Given the description of an element on the screen output the (x, y) to click on. 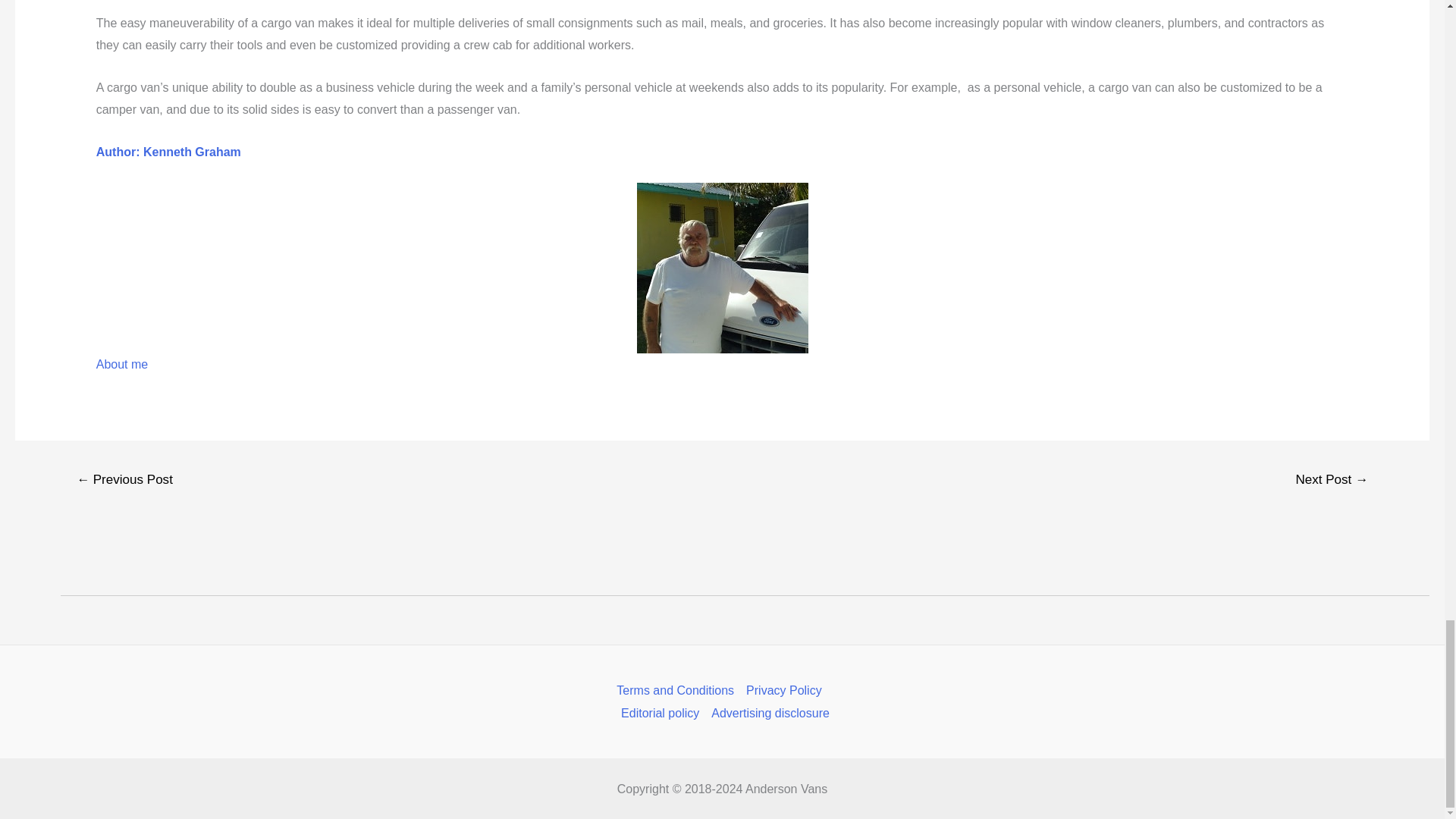
Author: Kenneth Graham (168, 151)
Terms and Conditions (677, 690)
Editorial policy (659, 712)
Privacy Policy (783, 690)
About me (122, 364)
Advertising disclosure (766, 712)
